Given the description of an element on the screen output the (x, y) to click on. 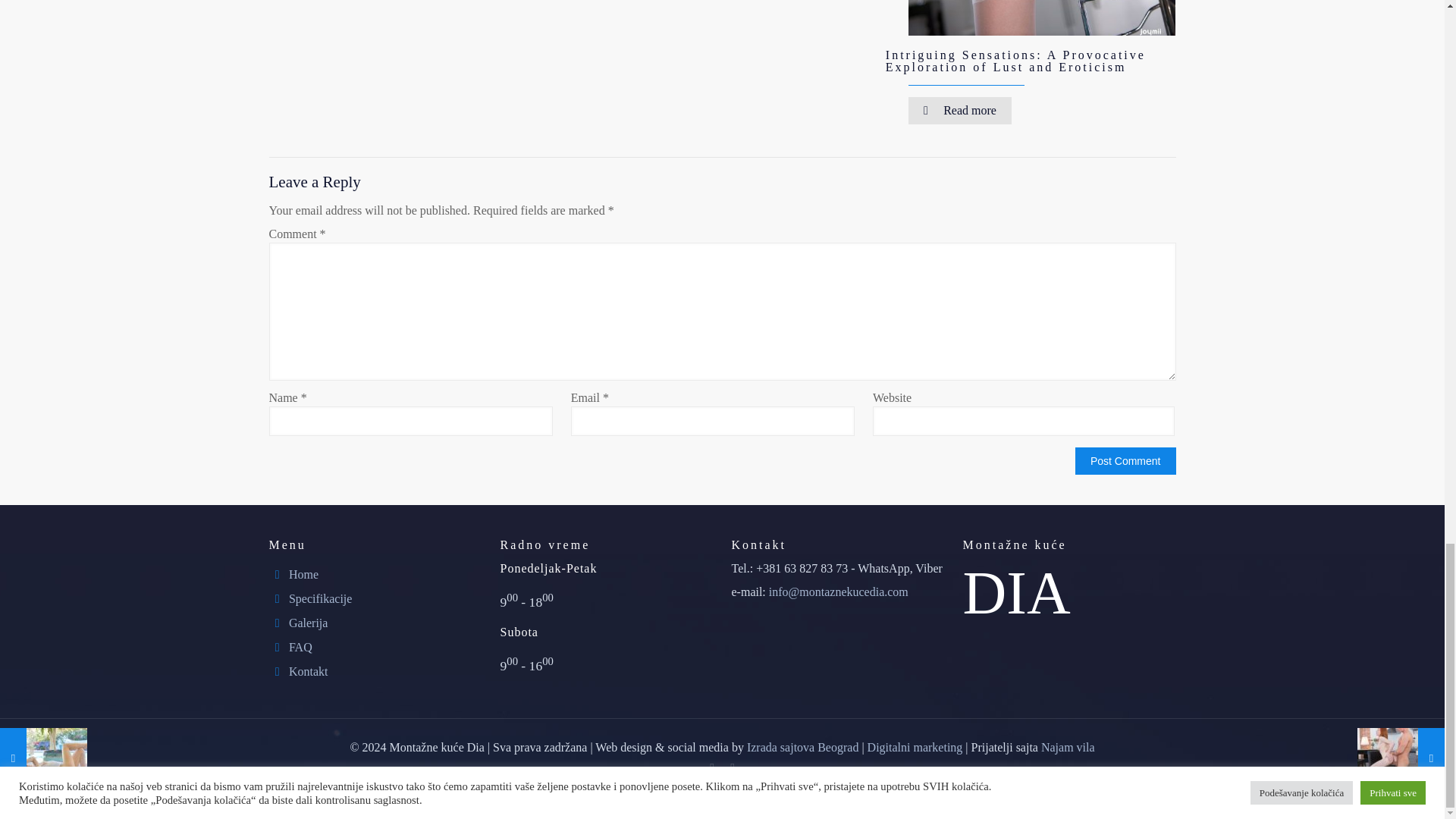
Post Comment (1125, 461)
Instagram (733, 767)
Facebook (711, 767)
Read more (959, 110)
